Given the description of an element on the screen output the (x, y) to click on. 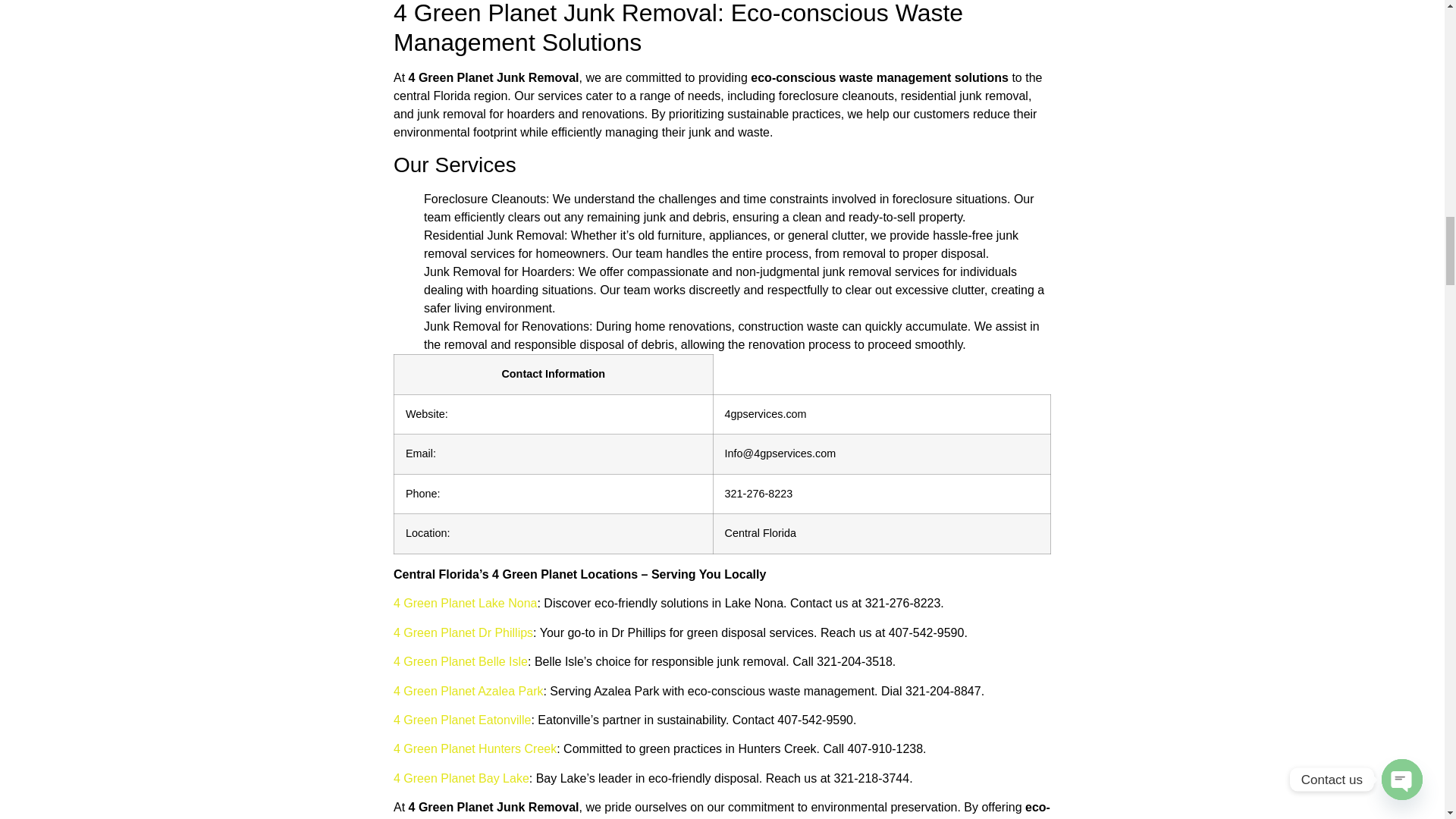
4 Green Planet Belle Isle (460, 661)
4 Green Planet Azalea Park (468, 690)
4 Green Planet Eatonville (462, 719)
4 Green Planet Lake Nona (465, 603)
4 Green Planet Dr Phillips (462, 632)
4 Green Planet Hunters Creek (474, 748)
4 Green Planet Bay Lake (461, 778)
